Given the description of an element on the screen output the (x, y) to click on. 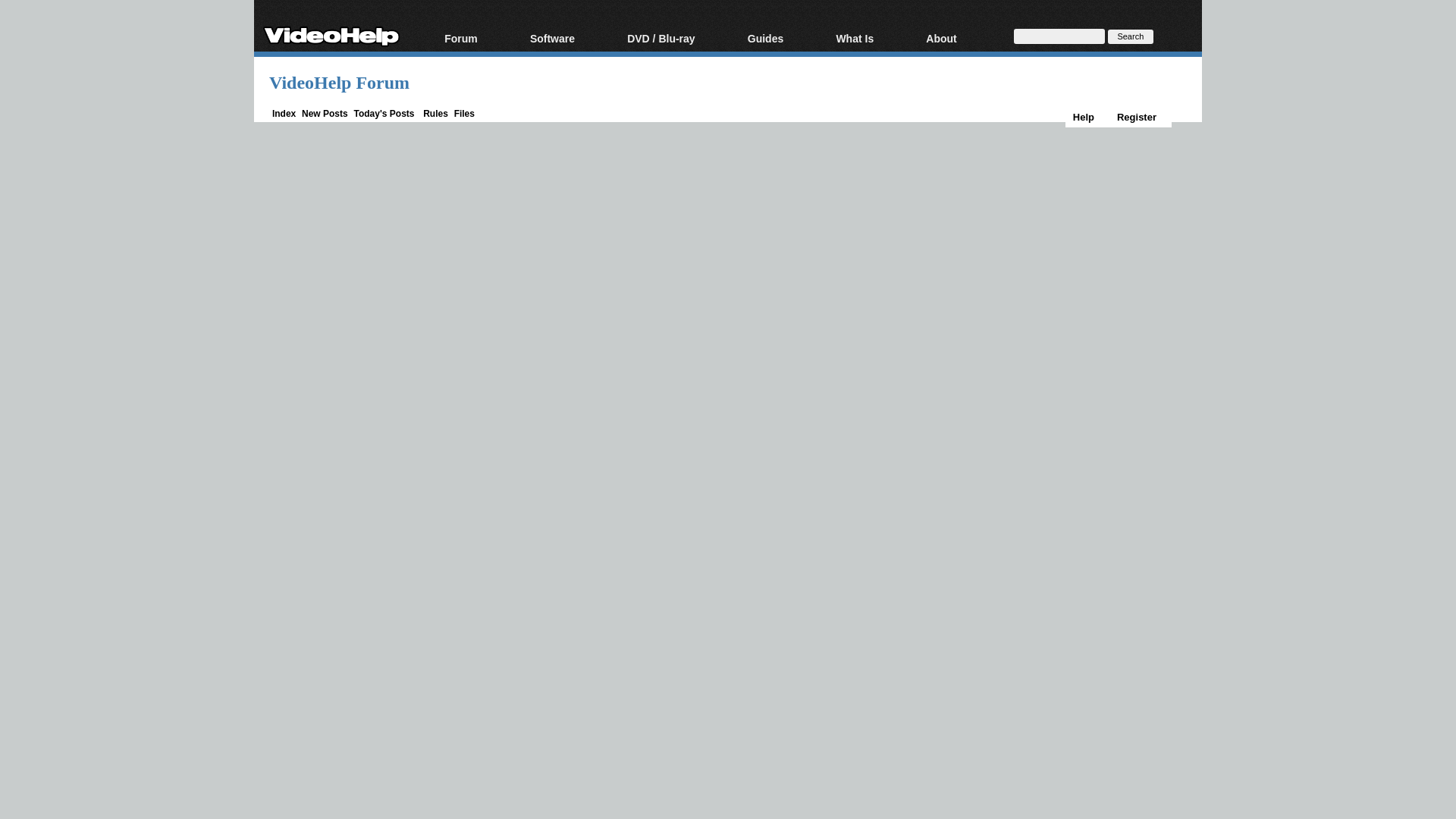
About (959, 40)
New Posts (324, 113)
Rules (435, 113)
Files (464, 113)
Guides (783, 40)
What Is (872, 40)
Index (283, 113)
VideoHelp (330, 33)
Today's Posts (383, 113)
Search (1130, 35)
Software (570, 40)
VideoHelp Forum (339, 82)
Search (1130, 35)
Forum (478, 40)
